Given the description of an element on the screen output the (x, y) to click on. 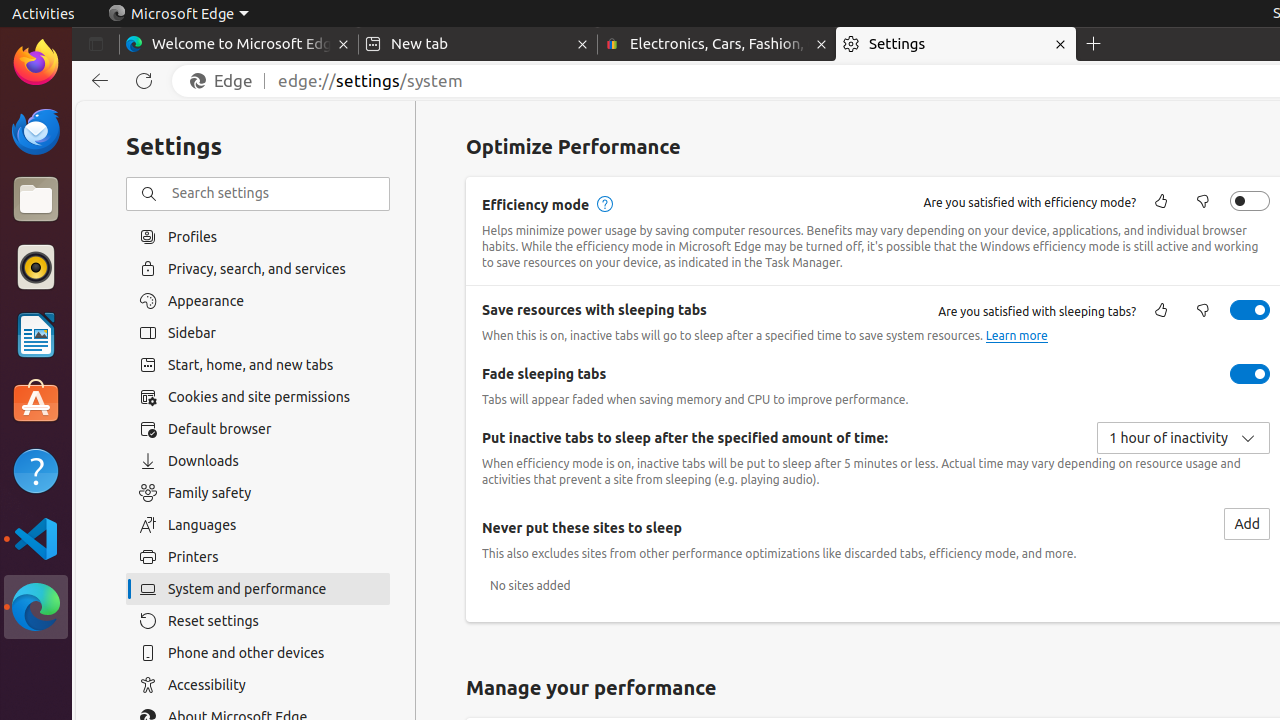
Appearance Element type: tree-item (258, 301)
Cookies and site permissions Element type: tree-item (258, 397)
Thunderbird Mail Element type: push-button (36, 131)
Privacy, search, and services Element type: tree-item (258, 268)
Add site to never put these sites to sleep list Element type: push-button (1247, 524)
